Given the description of an element on the screen output the (x, y) to click on. 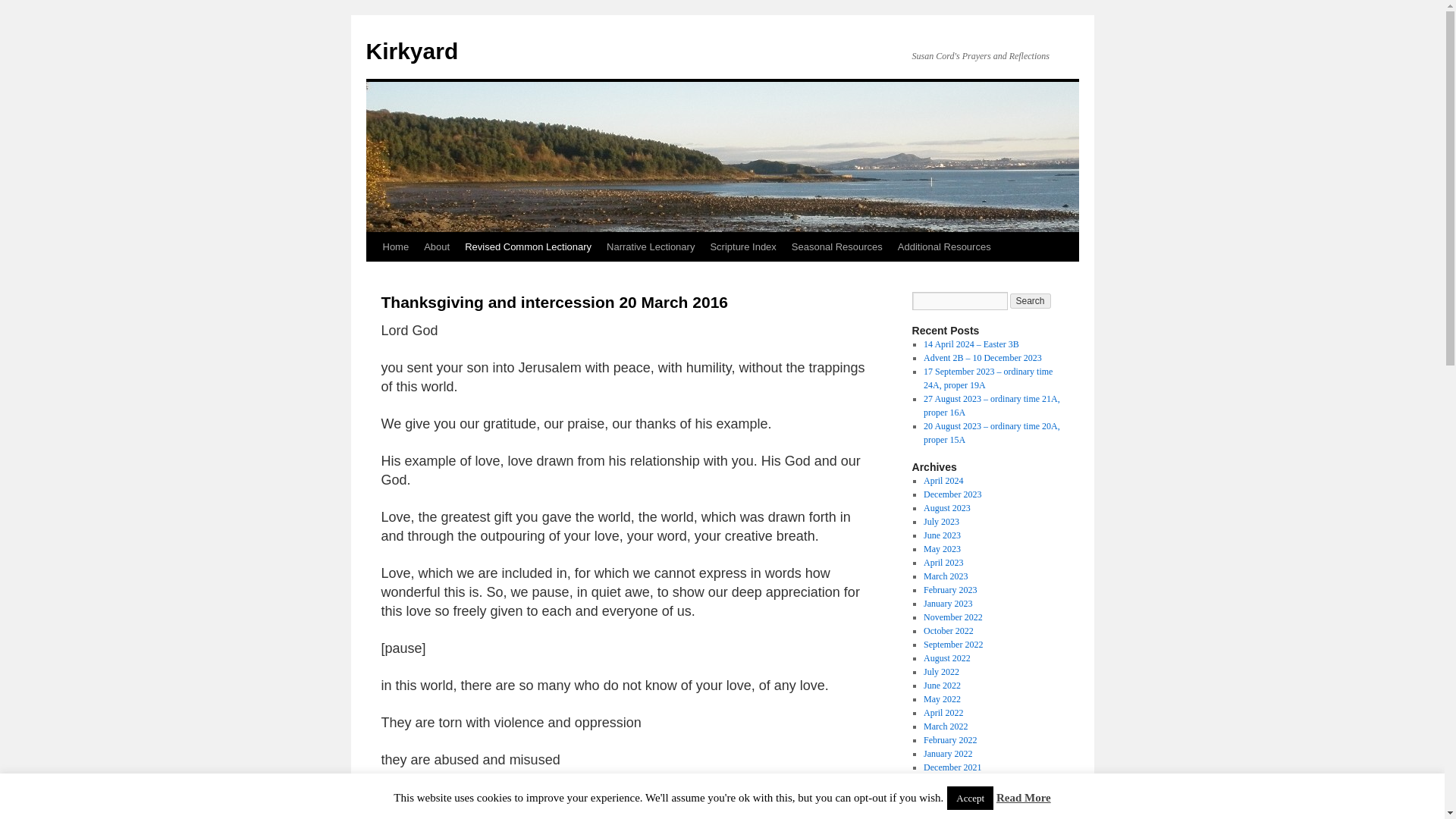
Kirkyard (411, 50)
Search (1030, 300)
Home (395, 246)
Revised Common Lectionary (527, 246)
About (436, 246)
